Given the description of an element on the screen output the (x, y) to click on. 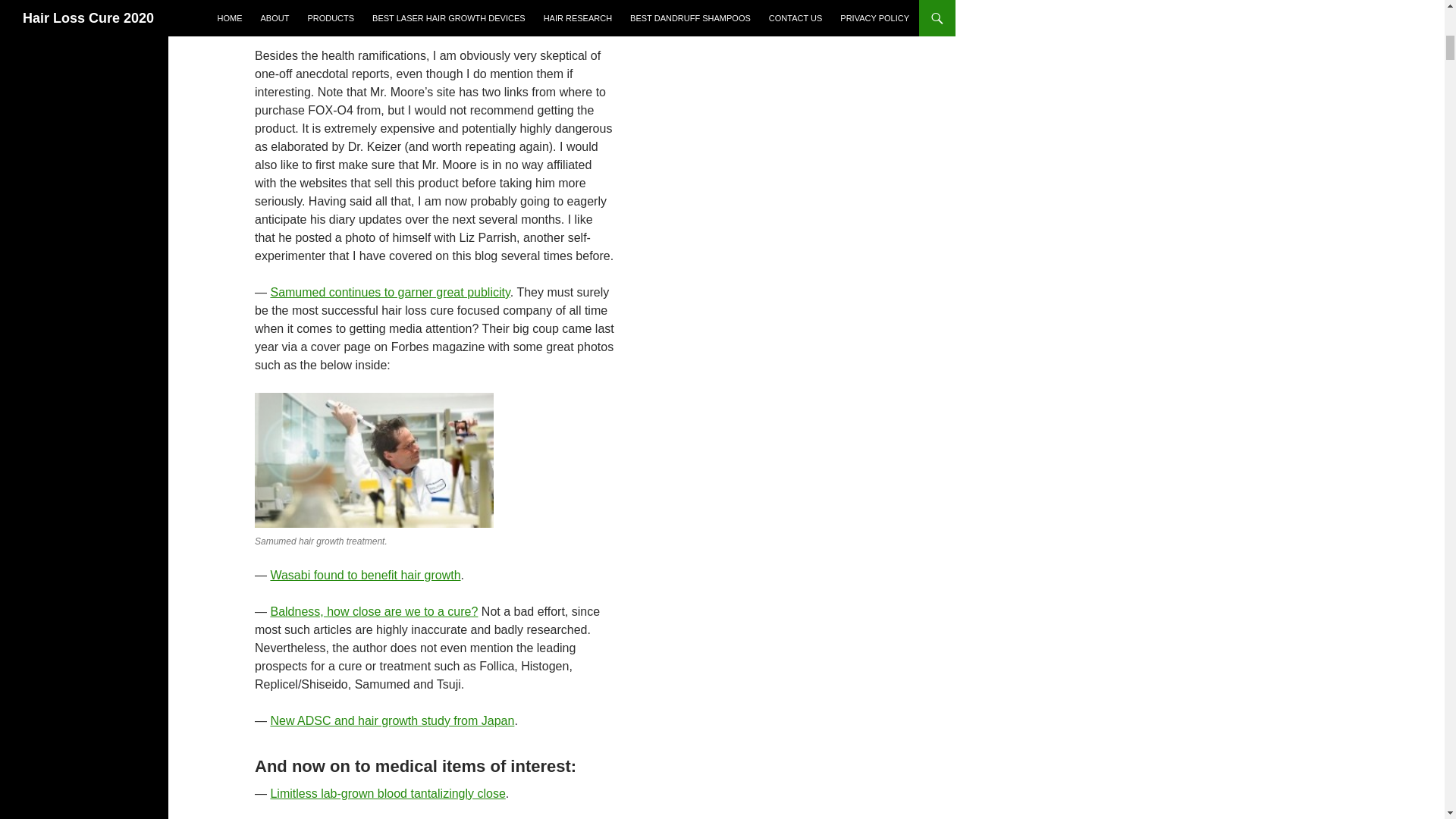
New ADSC and hair growth study from Japan (391, 720)
Limitless lab-grown blood tantalizingly close (387, 793)
Baldness, how close are we to a cure? (373, 611)
Wasabi found to benefit hair growth (364, 574)
Samumed continues to garner great publicity (389, 291)
